Given the description of an element on the screen output the (x, y) to click on. 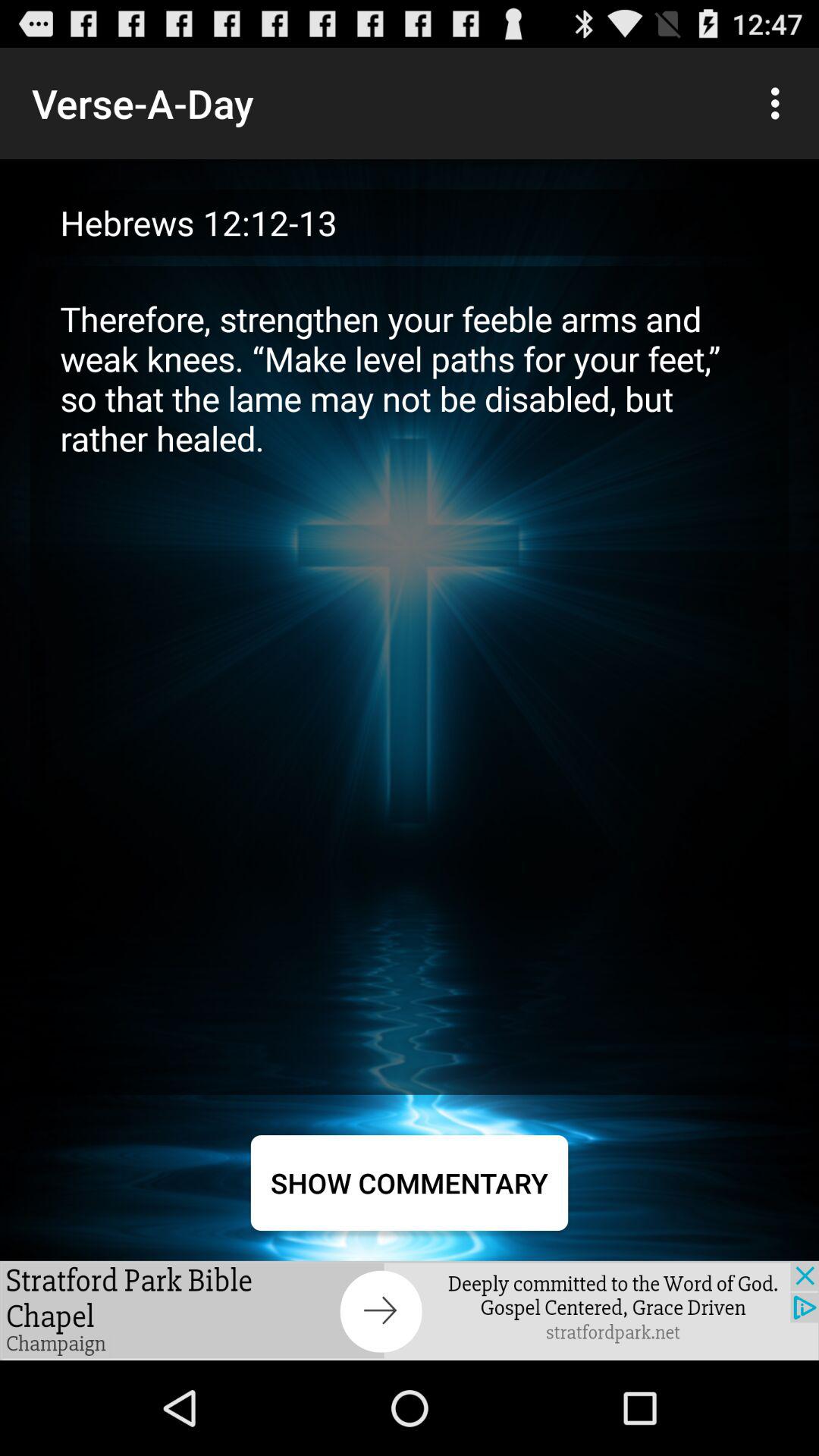
turn off the icon below therefore strengthen your icon (409, 1182)
